Given the description of an element on the screen output the (x, y) to click on. 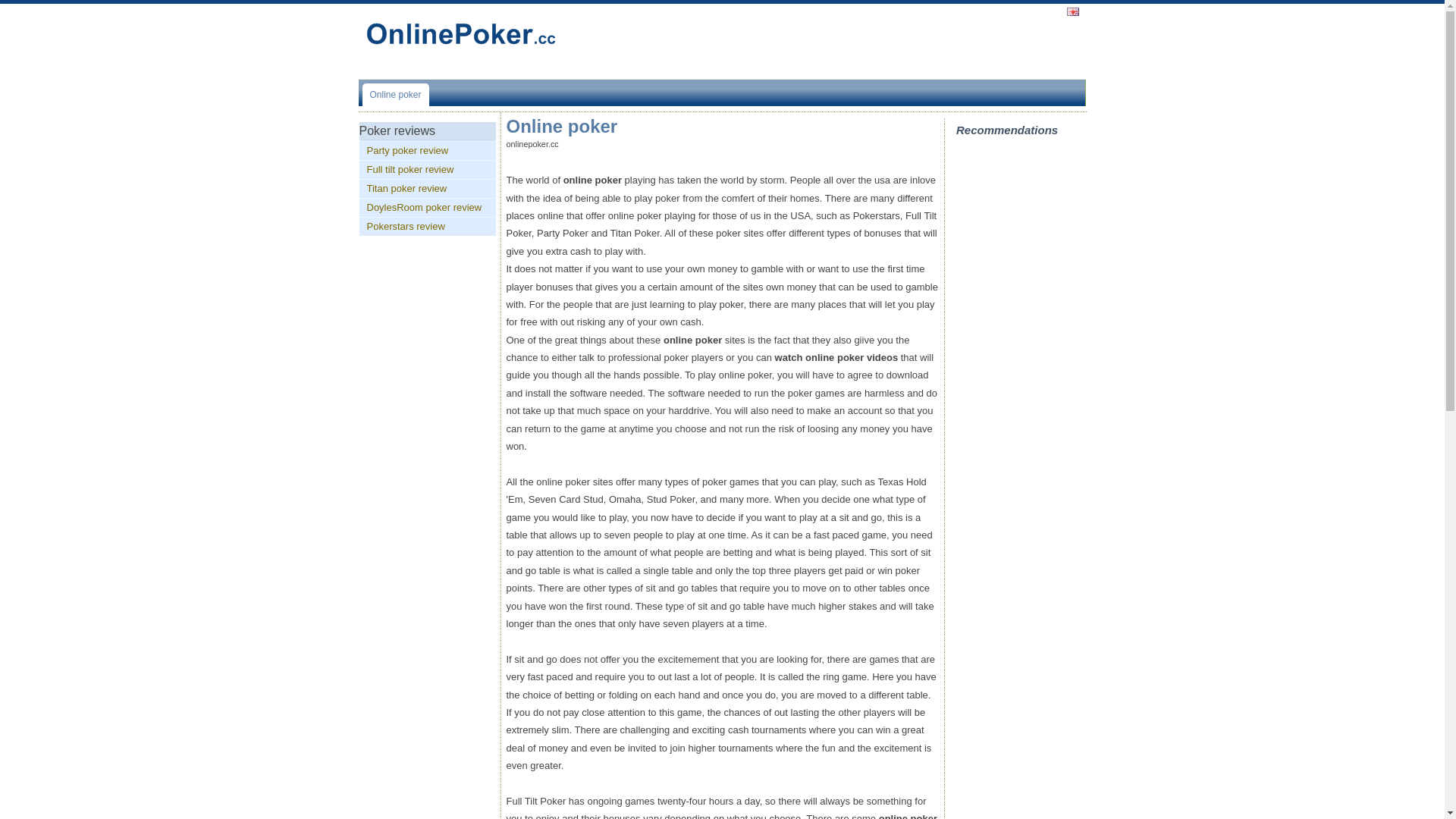
DoylesRoom poker review Element type: text (427, 207)
Full tilt poker review Element type: text (427, 169)
Pokerstars review Element type: text (427, 226)
Party poker review Element type: text (427, 150)
Online poker Element type: text (396, 94)
Titan poker review Element type: text (427, 188)
